Given the description of an element on the screen output the (x, y) to click on. 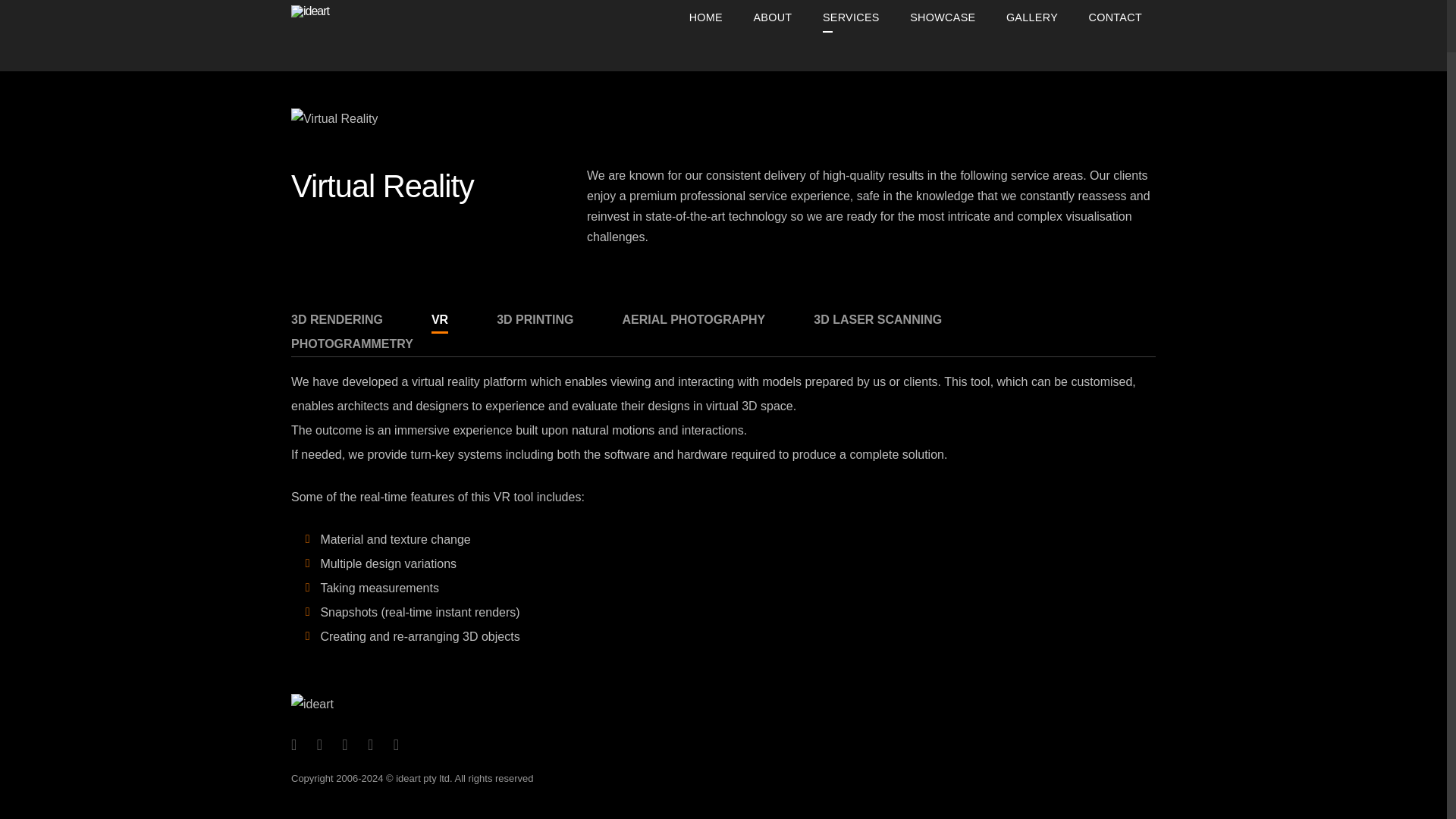
3D PRINTING (534, 319)
SERVICES (851, 17)
3D RENDERING (336, 319)
HOME (705, 17)
AERIAL PHOTOGRAPHY (693, 319)
PHOTOGRAMMETRY (352, 344)
3D LASER SCANNING (877, 319)
GALLERY (1031, 17)
ABOUT (772, 17)
CONTACT (1115, 17)
SHOWCASE (942, 17)
